Given the description of an element on the screen output the (x, y) to click on. 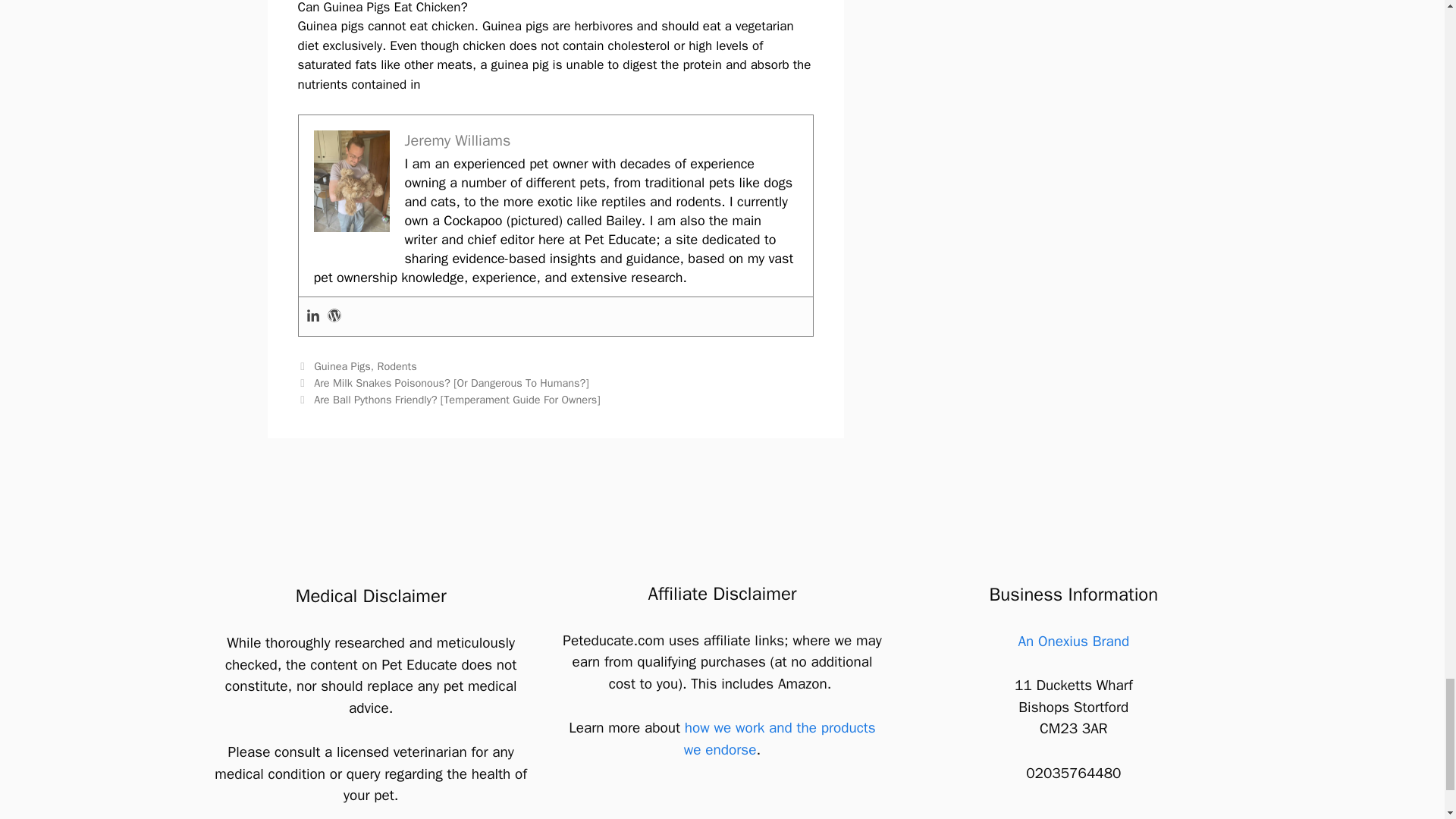
Linkedin (312, 316)
Wordpress (333, 316)
